Given the description of an element on the screen output the (x, y) to click on. 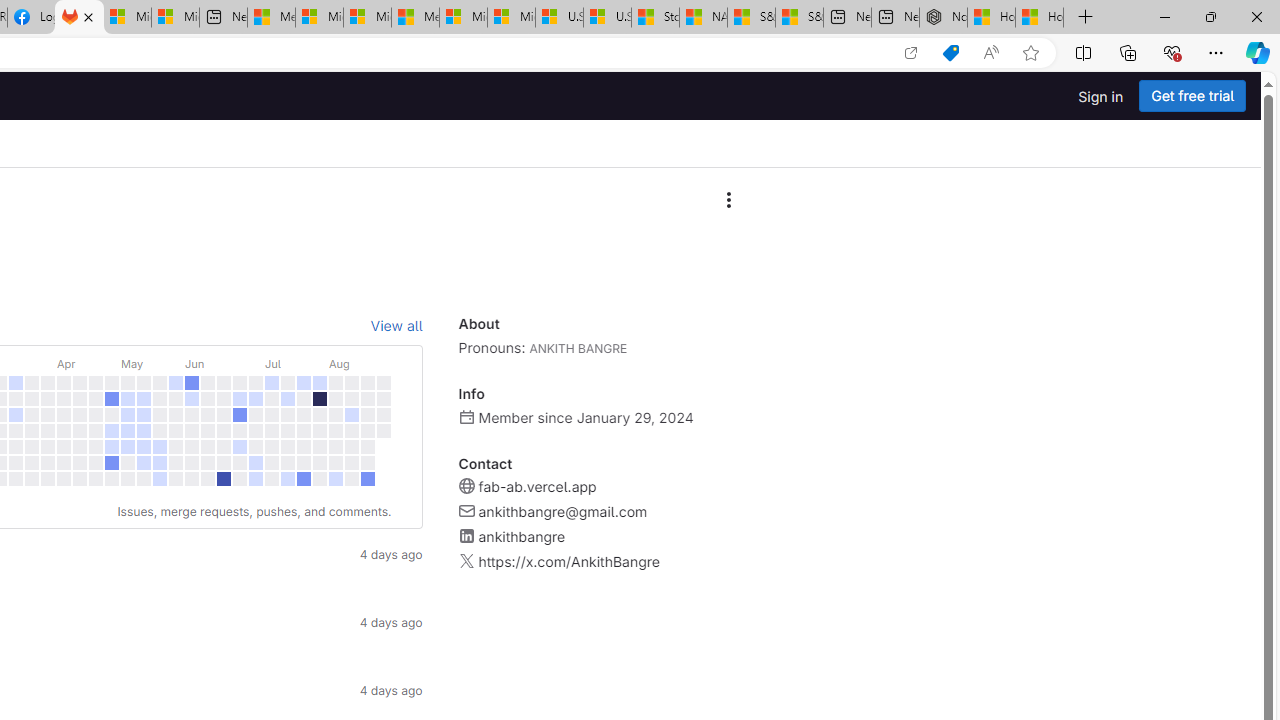
ankithbangre@gmail.com (562, 511)
Get free trial (1192, 95)
